Given the description of an element on the screen output the (x, y) to click on. 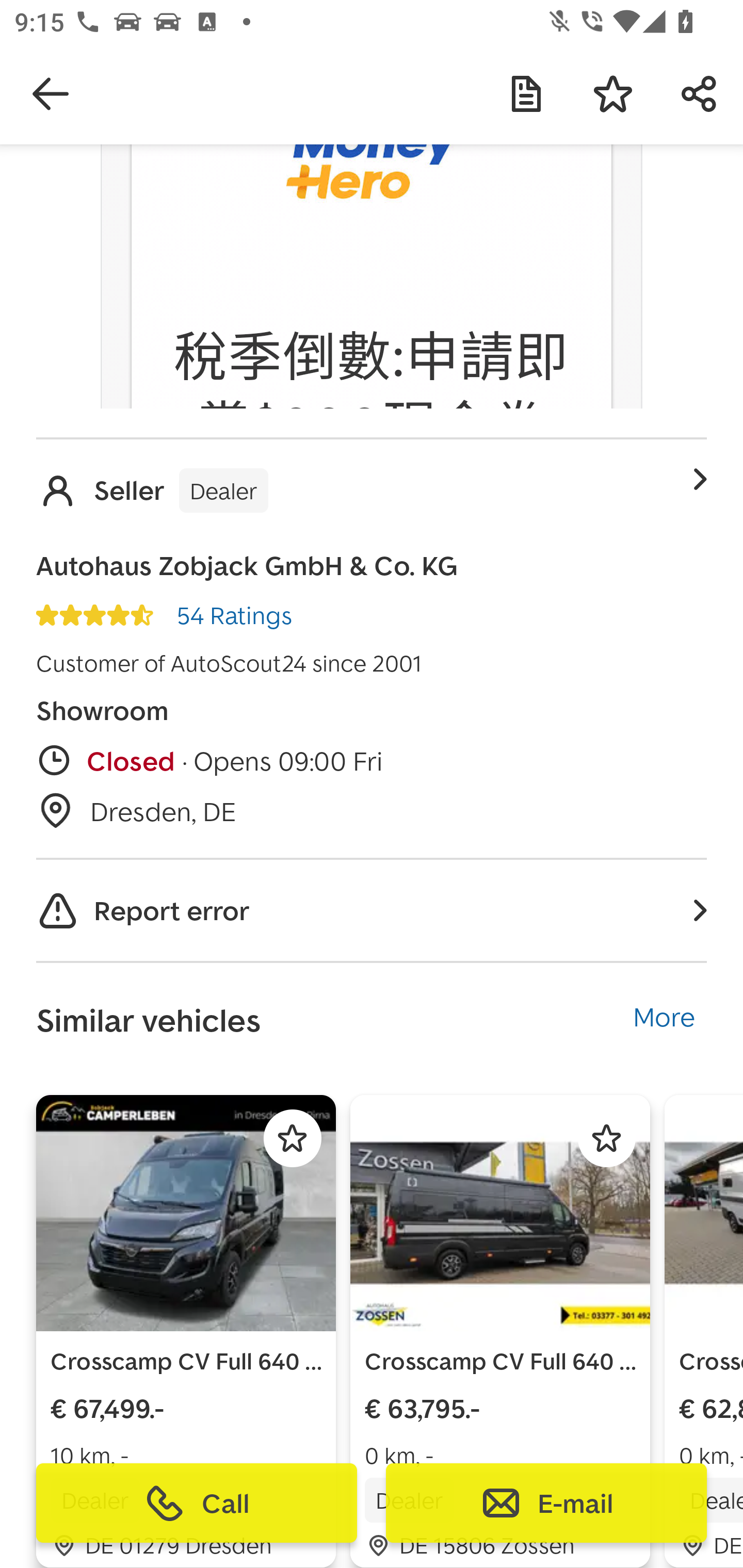
Navigate up (50, 93)
My Notes (525, 93)
Save (612, 93)
Forward (699, 93)
MoneyHero (372, 207)
稅季倒數:申請即 賞$800現金券 稅季倒數:申請即 賞$800現金券 (371, 366)
9.0 54 Ratings (164, 615)
Report error (371, 910)
More (663, 1012)
Call (196, 1502)
E-mail (545, 1502)
